Given the description of an element on the screen output the (x, y) to click on. 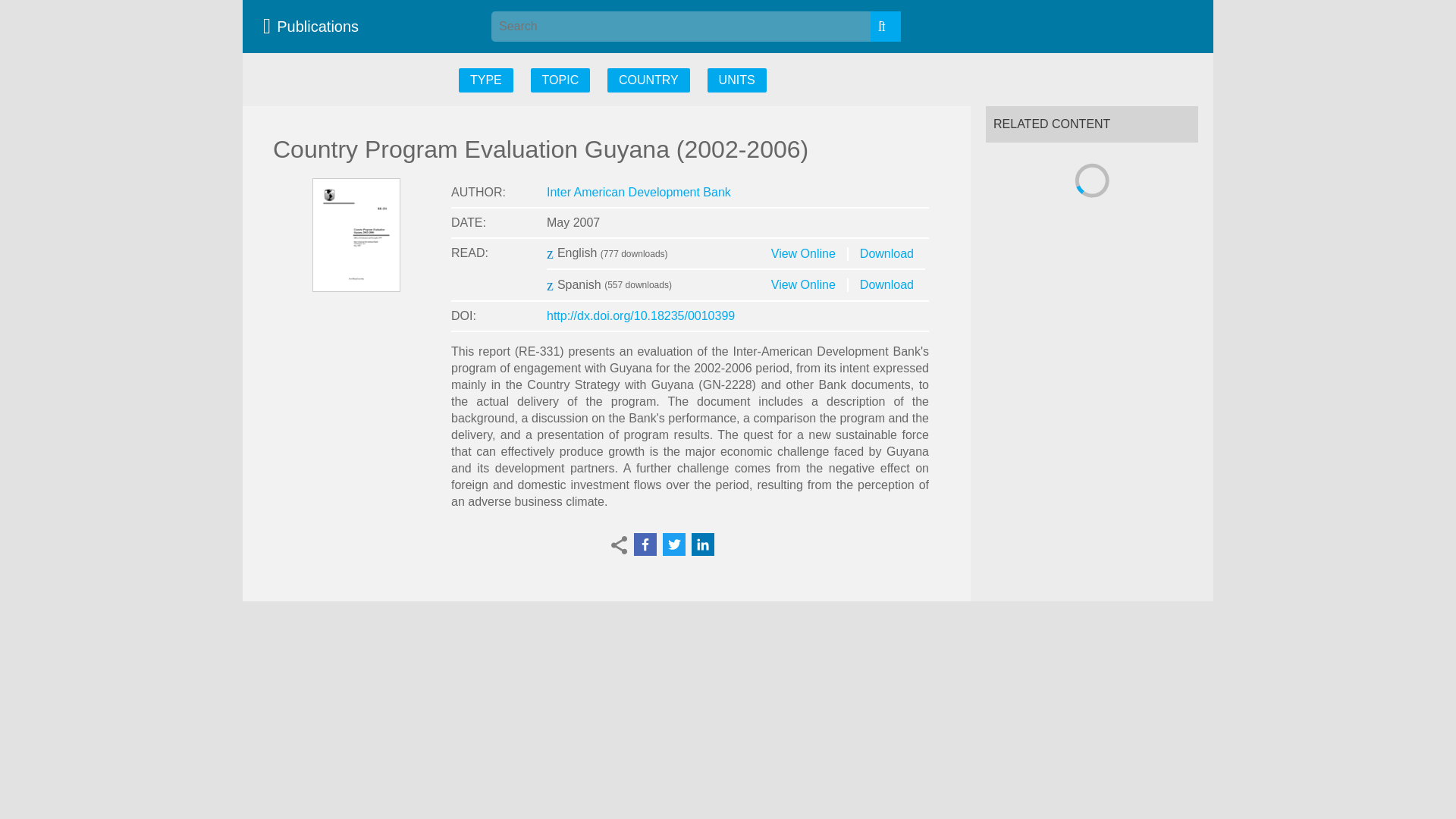
Share on Twitter (673, 544)
TOPIC (561, 79)
TYPE (485, 79)
UNITS (737, 79)
Publications (315, 26)
Inter American Development Bank (638, 192)
View Online (803, 284)
Share on Facebook (644, 544)
Share on LinkedIn (702, 544)
Download (887, 253)
Apply (885, 26)
COUNTRY (648, 79)
Apply (885, 26)
Download (887, 284)
